Given the description of an element on the screen output the (x, y) to click on. 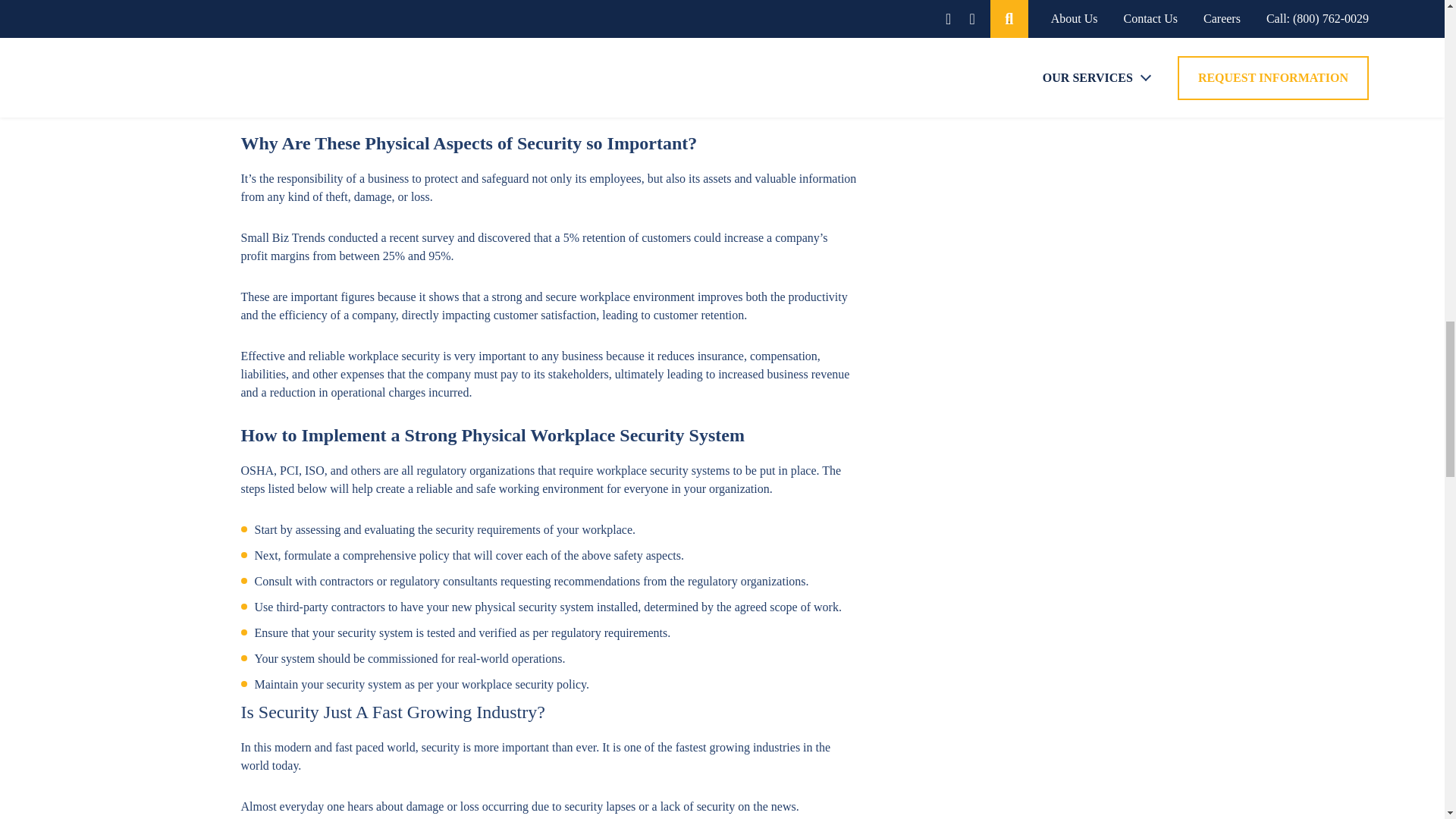
access control badge system (539, 72)
